Given the description of an element on the screen output the (x, y) to click on. 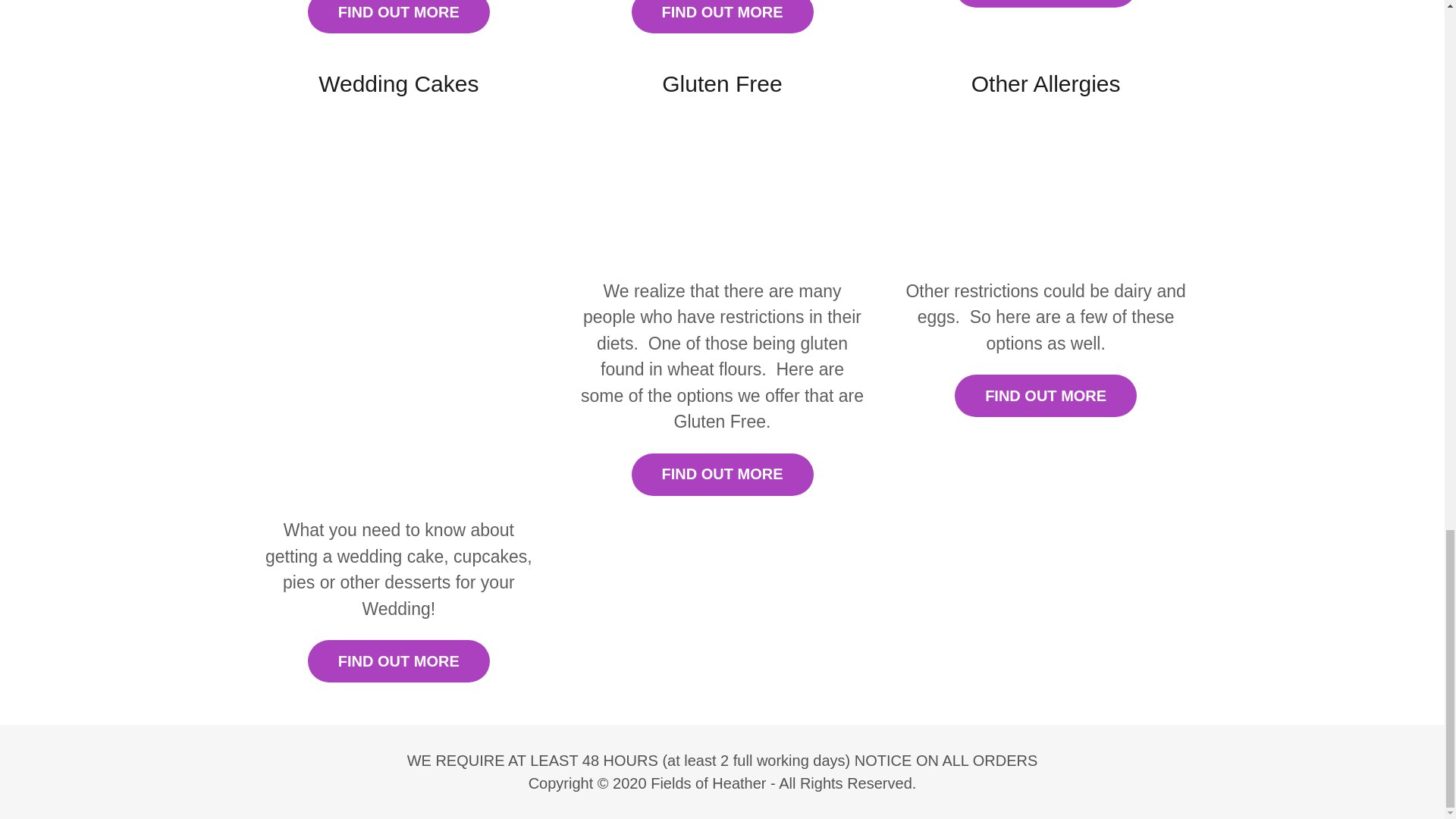
FIND OUT MORE (1046, 3)
FIND OUT MORE (1046, 395)
FIND OUT MORE (398, 16)
FIND OUT MORE (721, 474)
FIND OUT MORE (721, 16)
FIND OUT MORE (398, 660)
